Given the description of an element on the screen output the (x, y) to click on. 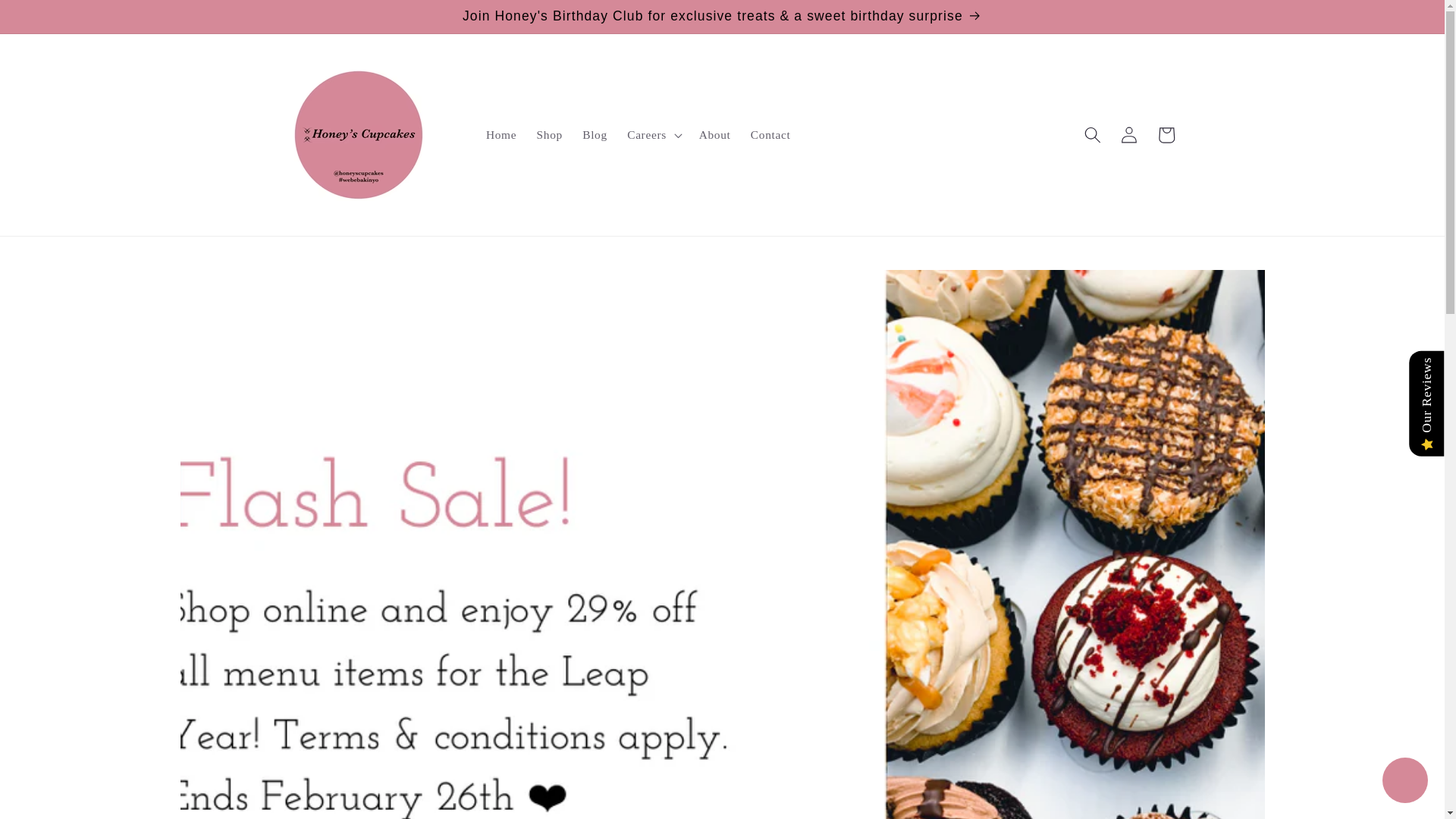
Blog (594, 134)
Shop (548, 134)
Log in (1128, 135)
Home (501, 134)
Contact (770, 134)
Skip to content (50, 19)
About (714, 134)
Shopify online store chat (1404, 781)
Cart (1166, 135)
